Given the description of an element on the screen output the (x, y) to click on. 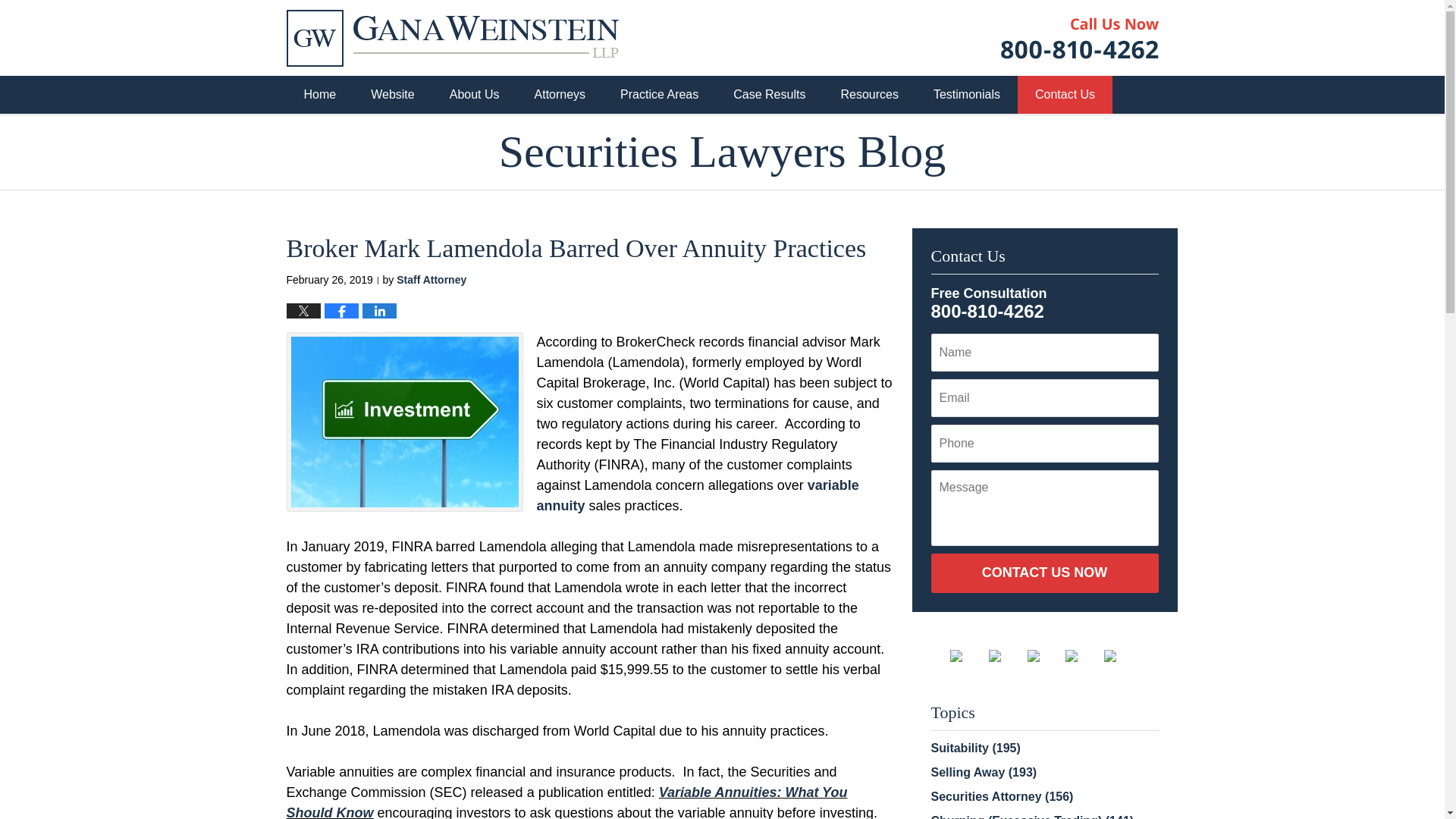
LinkedIn (1044, 655)
Resources (868, 94)
Justia (1082, 655)
Staff Attorney (430, 279)
About Us (474, 94)
Securities Lawyers Blog (722, 151)
Contact Us (1064, 94)
Home (319, 94)
Attorneys (560, 94)
Practice Areas (659, 94)
